Given the description of an element on the screen output the (x, y) to click on. 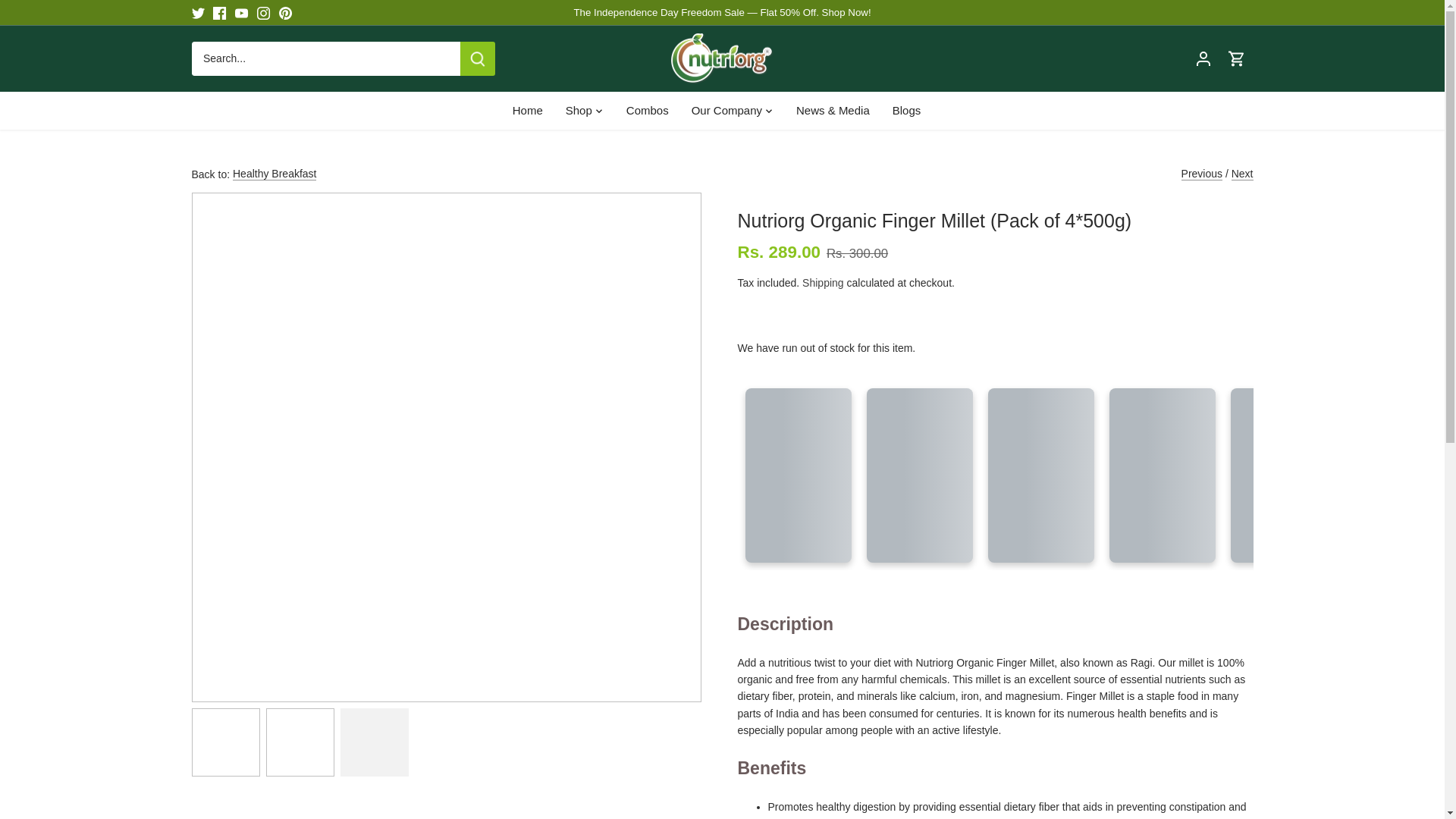
Twitter (196, 12)
Instagram (263, 12)
Home (533, 110)
Shop (579, 110)
Healthy Breakfast (274, 173)
Facebook (218, 12)
Youtube (240, 12)
Pinterest (285, 12)
